Given the description of an element on the screen output the (x, y) to click on. 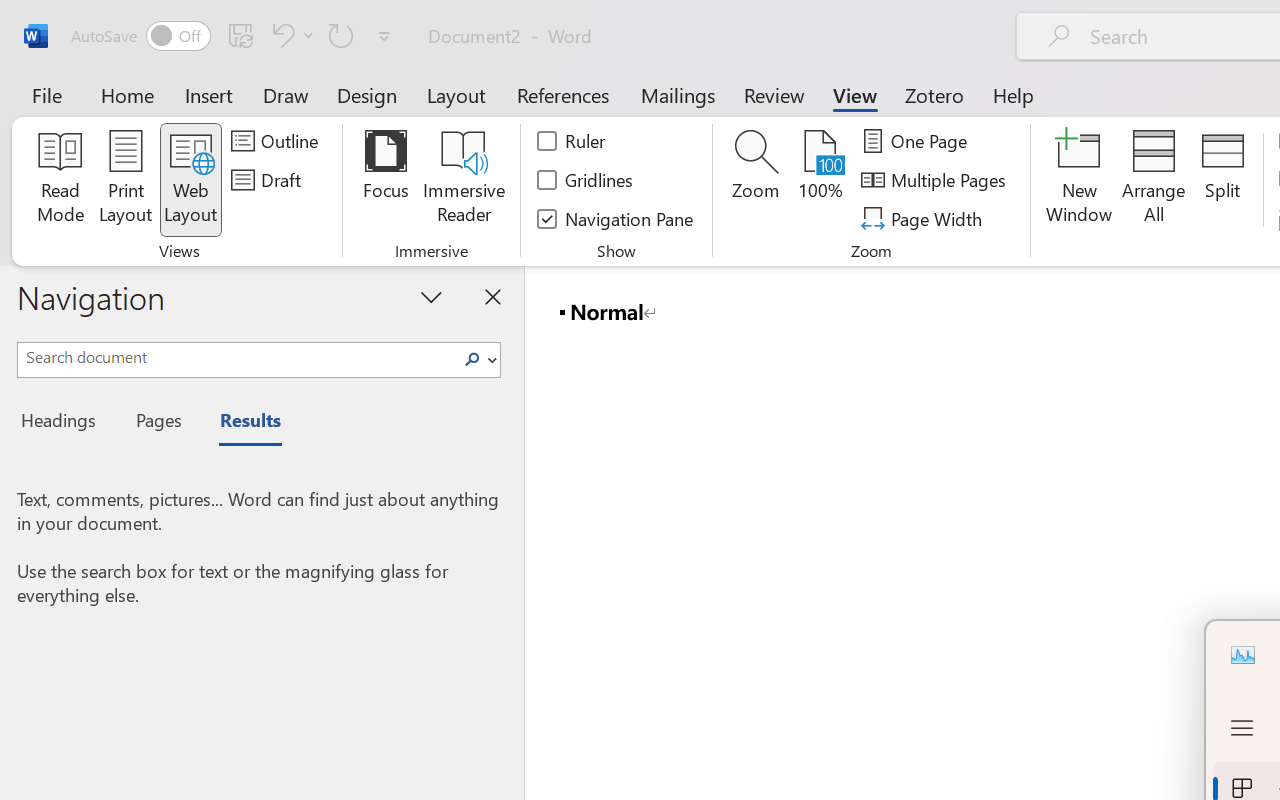
Customize Quick Access Toolbar (384, 35)
Search (471, 359)
Ruler (572, 141)
Draft (269, 179)
Quick Access Toolbar (233, 36)
Multiple Pages (936, 179)
Arrange All (1153, 179)
Search document (236, 357)
Split (1222, 179)
Pages (156, 423)
Draw (285, 94)
